Given the description of an element on the screen output the (x, y) to click on. 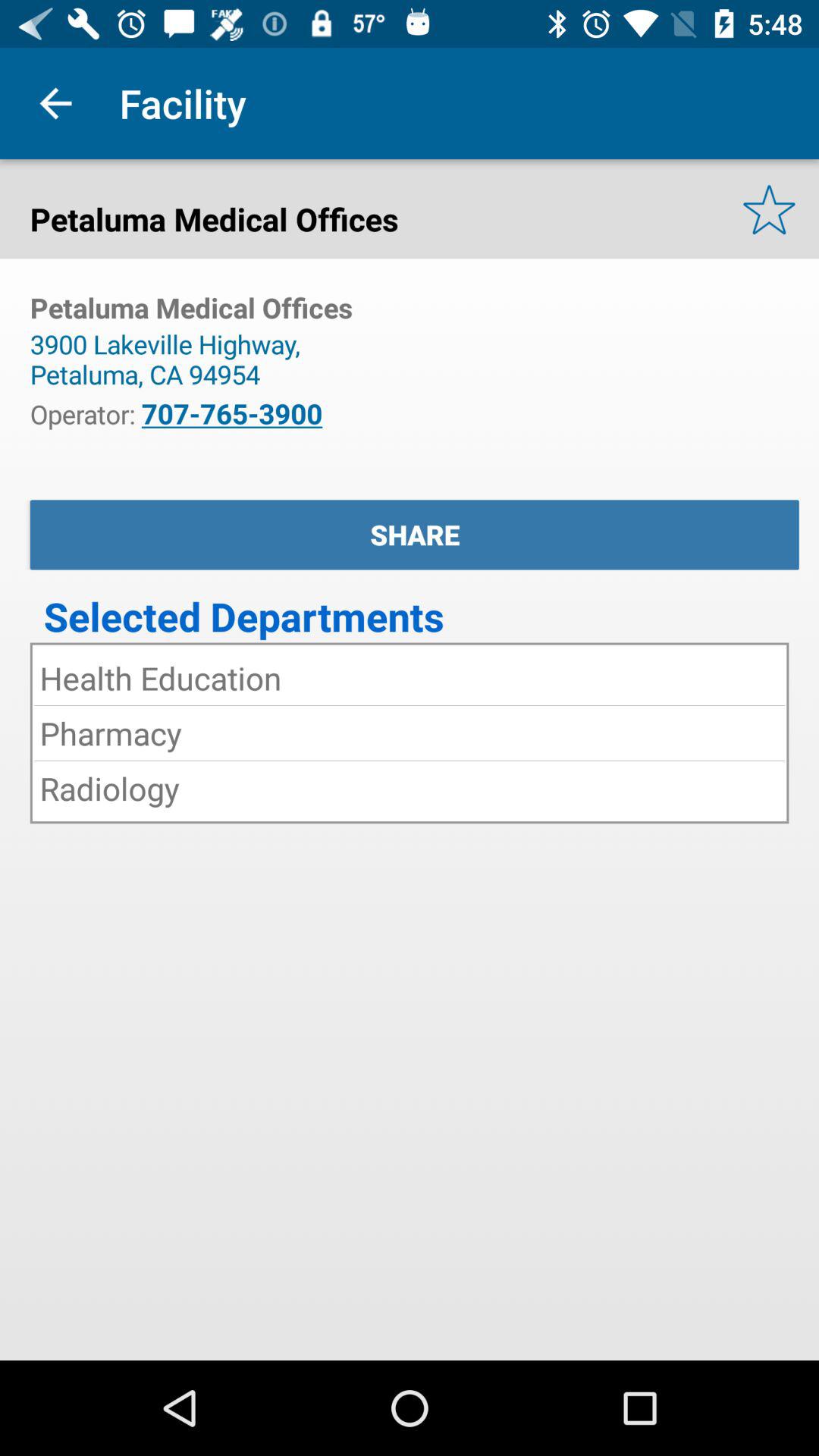
open icon above selected departments item (414, 534)
